Given the description of an element on the screen output the (x, y) to click on. 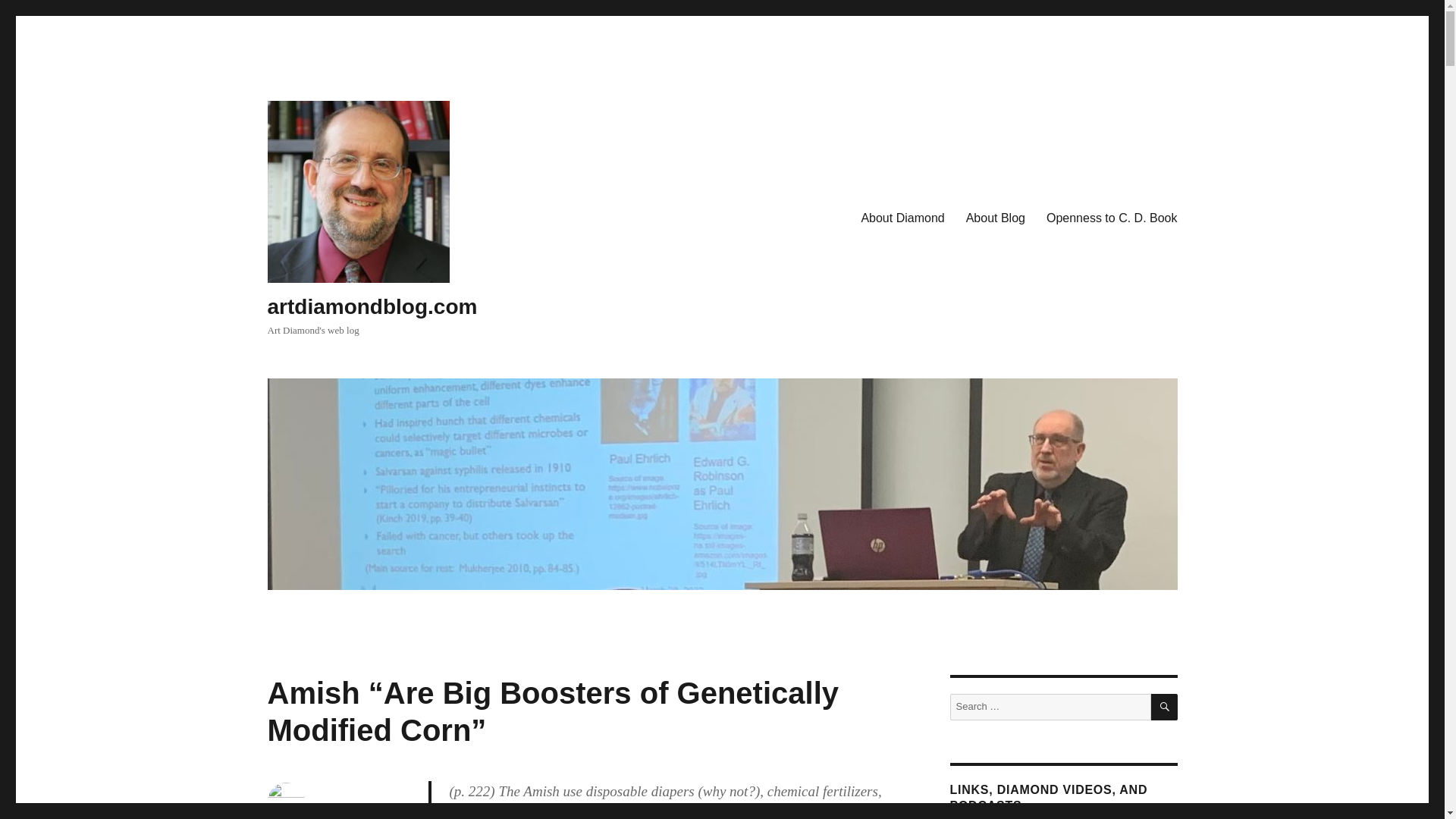
Openness to C. D. Book (1111, 218)
About Diamond (902, 218)
About Blog (995, 218)
artdiamondblog.com (371, 306)
SEARCH (1164, 706)
